Given the description of an element on the screen output the (x, y) to click on. 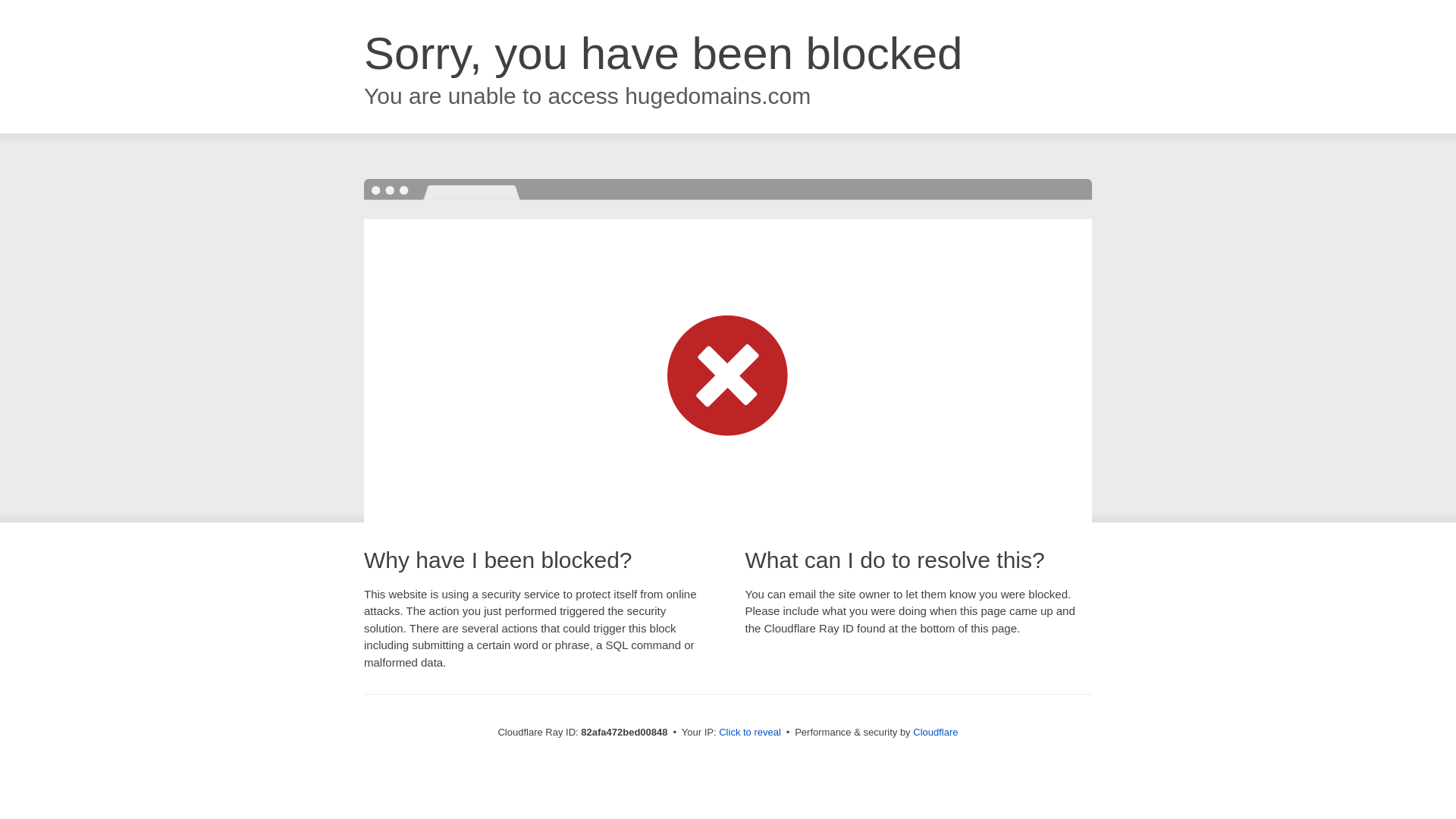
Cloudflare Element type: text (935, 731)
Click to reveal Element type: text (749, 732)
